Given the description of an element on the screen output the (x, y) to click on. 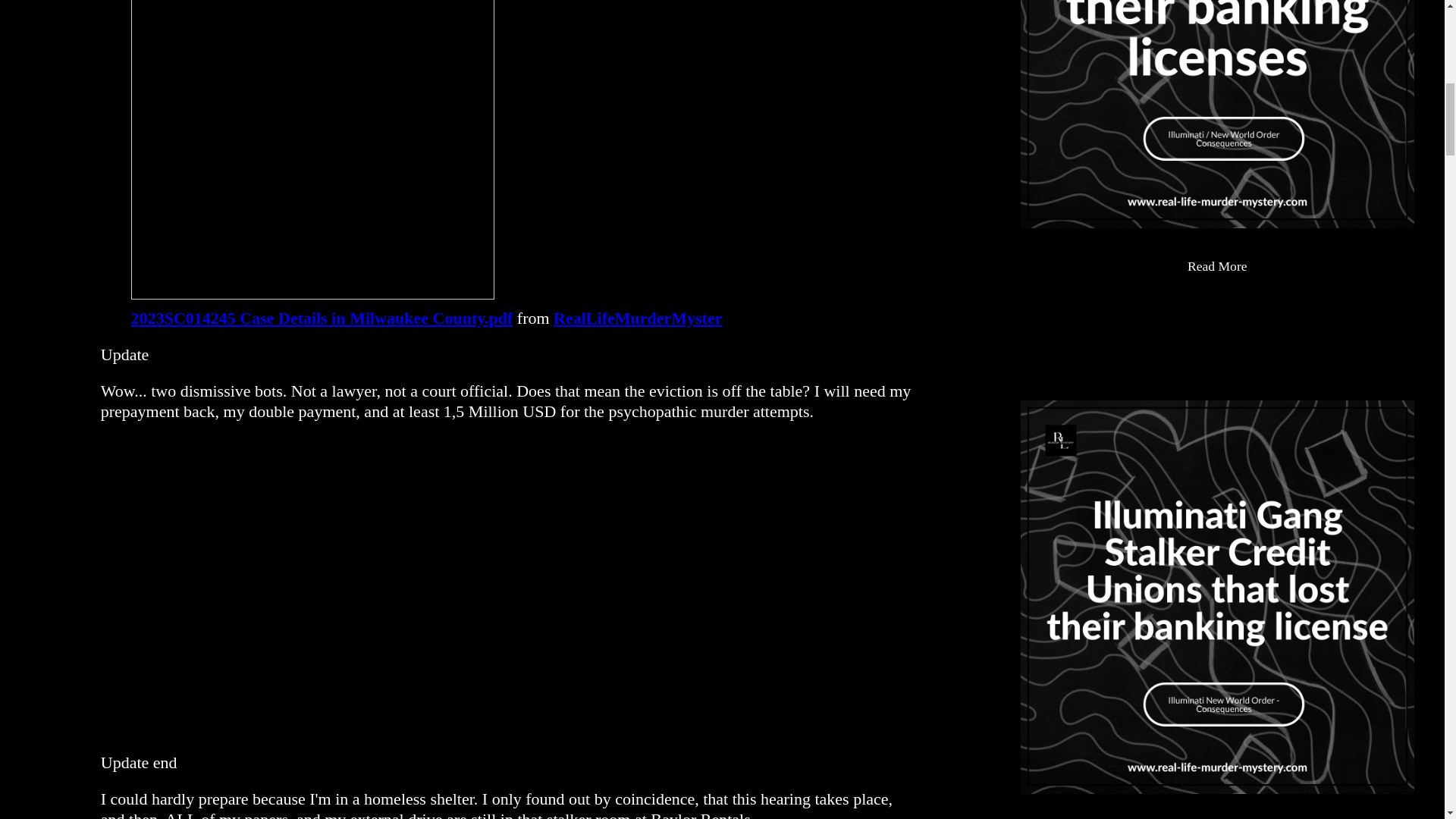
2023SC014245 Case Details in Milwaukee County.pdf (322, 317)
2023SC014245 Case Details in Milwaukee County.pdf (313, 149)
Read More (1216, 266)
Read More (1216, 816)
RealLifeMurderMyster (637, 317)
2023SC014245 Case Details in Milwaukee County.pdf (322, 317)
